Given the description of an element on the screen output the (x, y) to click on. 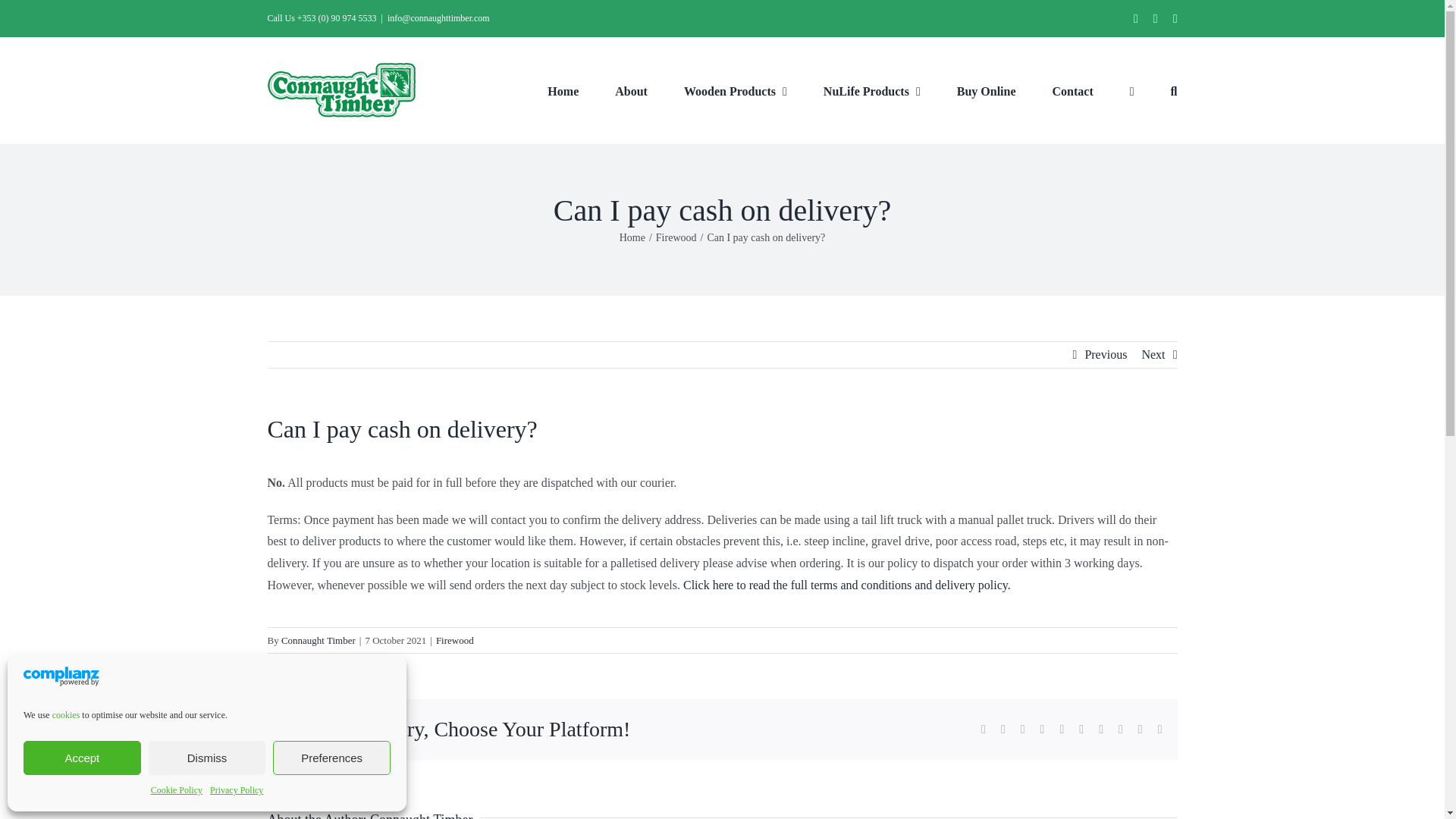
Privacy Policy (236, 790)
Wooden Products (735, 89)
Posts by Connaught Timber (421, 815)
Dismiss (207, 757)
NuLife Products (872, 89)
Cookie Policy (176, 790)
Accept (82, 757)
Posts by Connaught Timber (318, 640)
Preferences (331, 757)
cookies (66, 715)
